Given the description of an element on the screen output the (x, y) to click on. 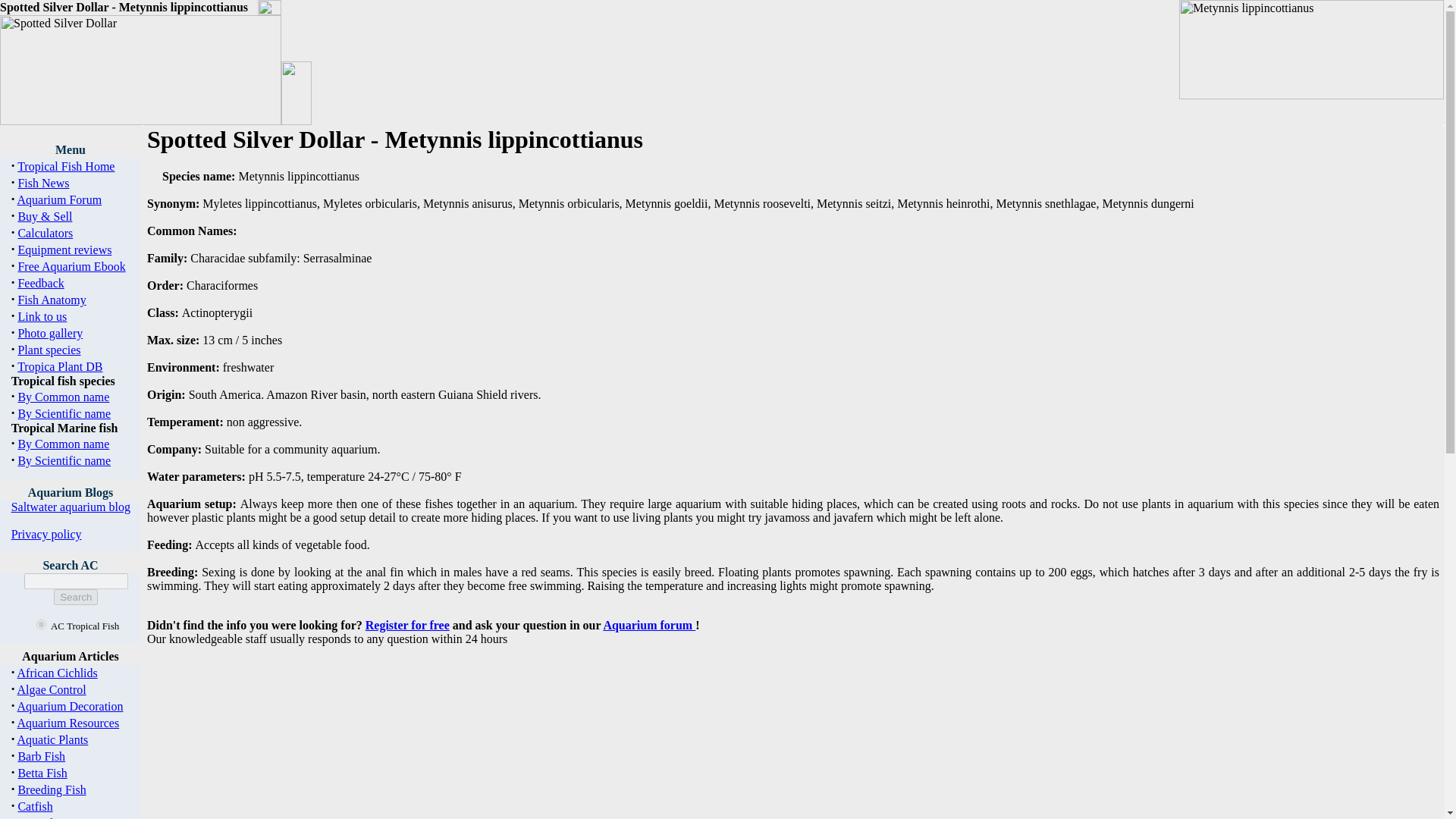
Photo gallery (49, 332)
By Common name (63, 443)
Saltwater aquarium blog (71, 506)
Tropica Plant DB (59, 366)
By Common name (63, 396)
Free Aquarium Ebook (71, 266)
Breeding Fish (51, 789)
Aquatic Plants (52, 739)
African Cichlids (57, 672)
Aquarium Resources (68, 722)
Plant species (48, 349)
Feedback (40, 282)
Search (75, 596)
Calculators (44, 232)
By Scientific name (63, 413)
